Given the description of an element on the screen output the (x, y) to click on. 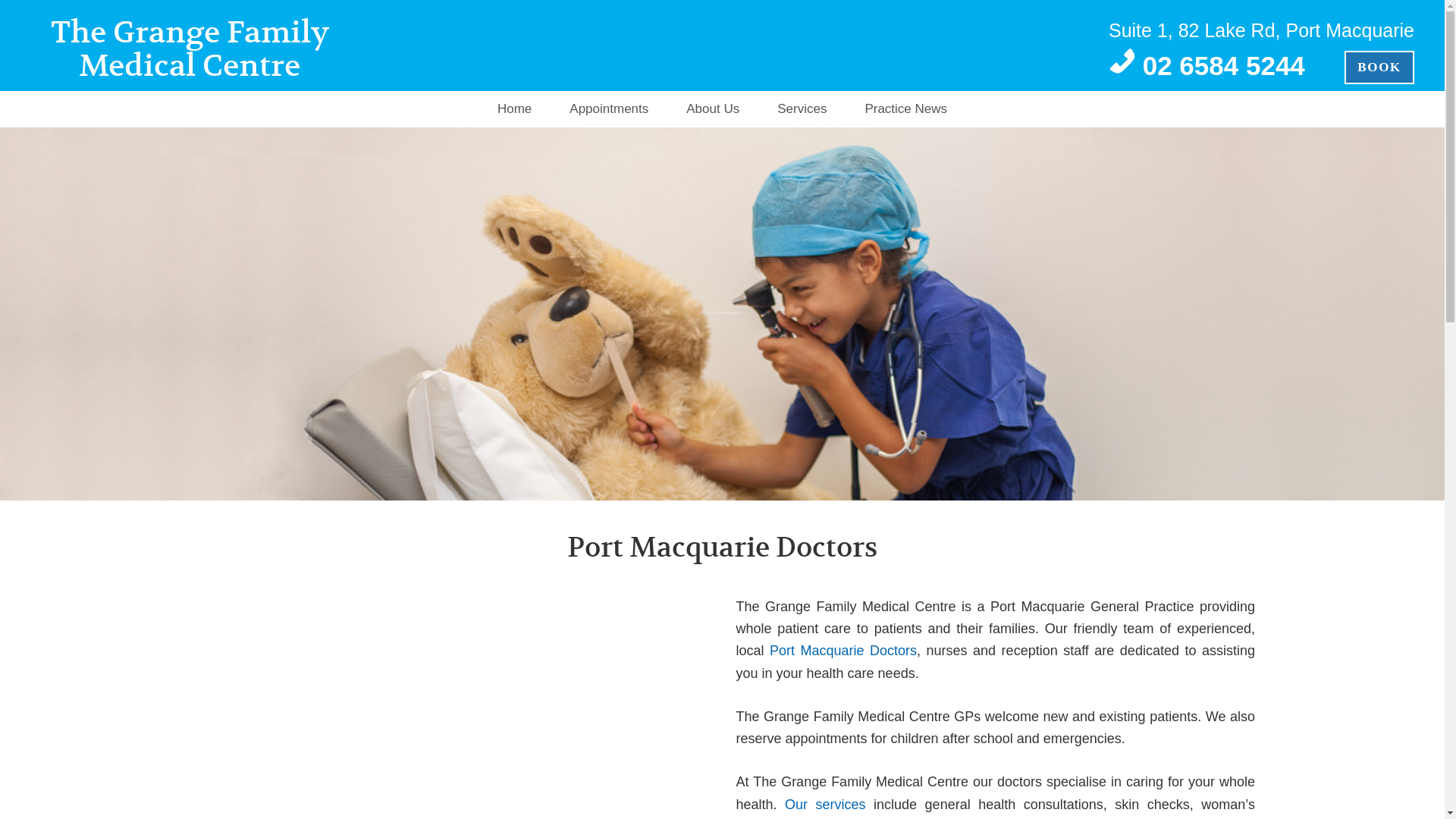
02 6584 5244 Element type: text (1223, 65)
BOOK Element type: text (1379, 67)
About Us Element type: text (712, 109)
Skip to primary navigation Element type: text (0, 0)
Our services Element type: text (825, 804)
Appointments Element type: text (608, 109)
Practice News Element type: text (905, 109)
Port Macquarie Doctors Element type: text (842, 650)
The Grange Family Medical Centre Element type: text (189, 48)
Home Element type: text (514, 109)
Services Element type: text (801, 109)
